Given the description of an element on the screen output the (x, y) to click on. 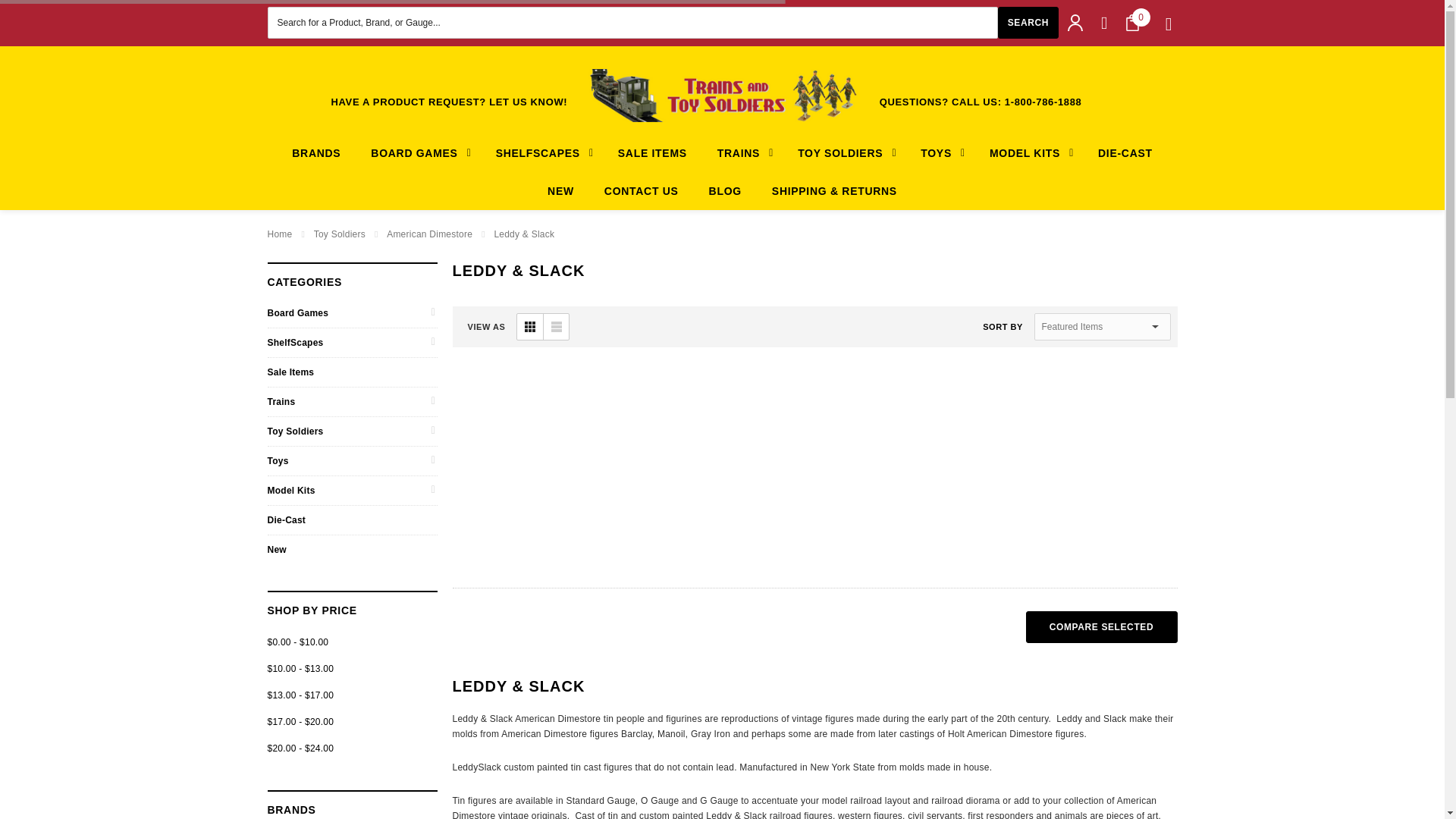
Wish lists (1104, 22)
Shopping Cart (1131, 22)
Search (1027, 22)
Trains And Toy Soldiers (722, 95)
My Account (1075, 22)
